Given the description of an element on the screen output the (x, y) to click on. 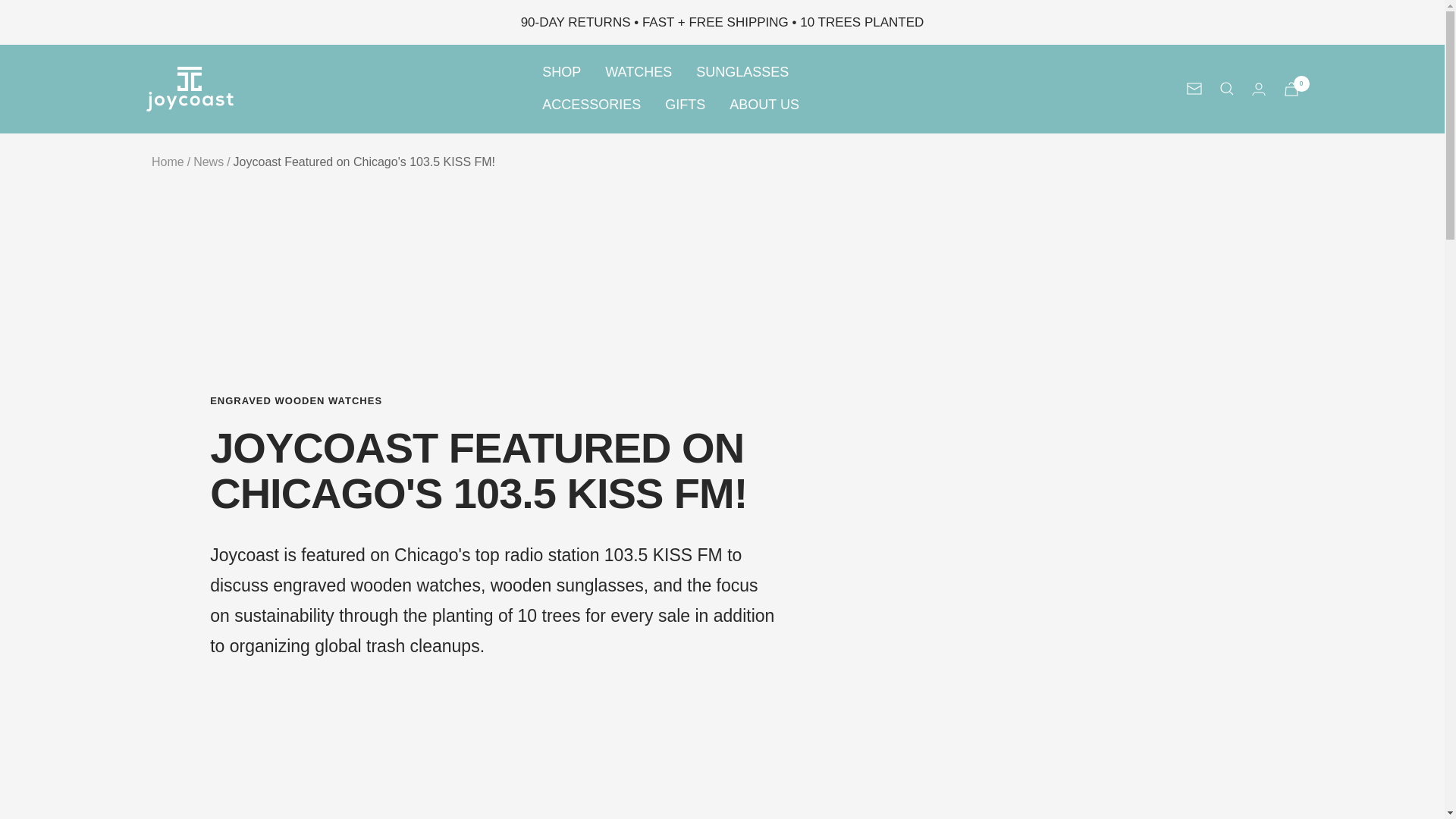
SHOP (560, 72)
WATCHES (638, 72)
News (208, 161)
0 (1291, 88)
ACCESSORIES (590, 105)
GIFTS (684, 105)
ABOUT US (764, 105)
SUNGLASSES (742, 72)
ENGRAVED WOODEN WATCHES (494, 400)
Joycoast (188, 88)
